Given the description of an element on the screen output the (x, y) to click on. 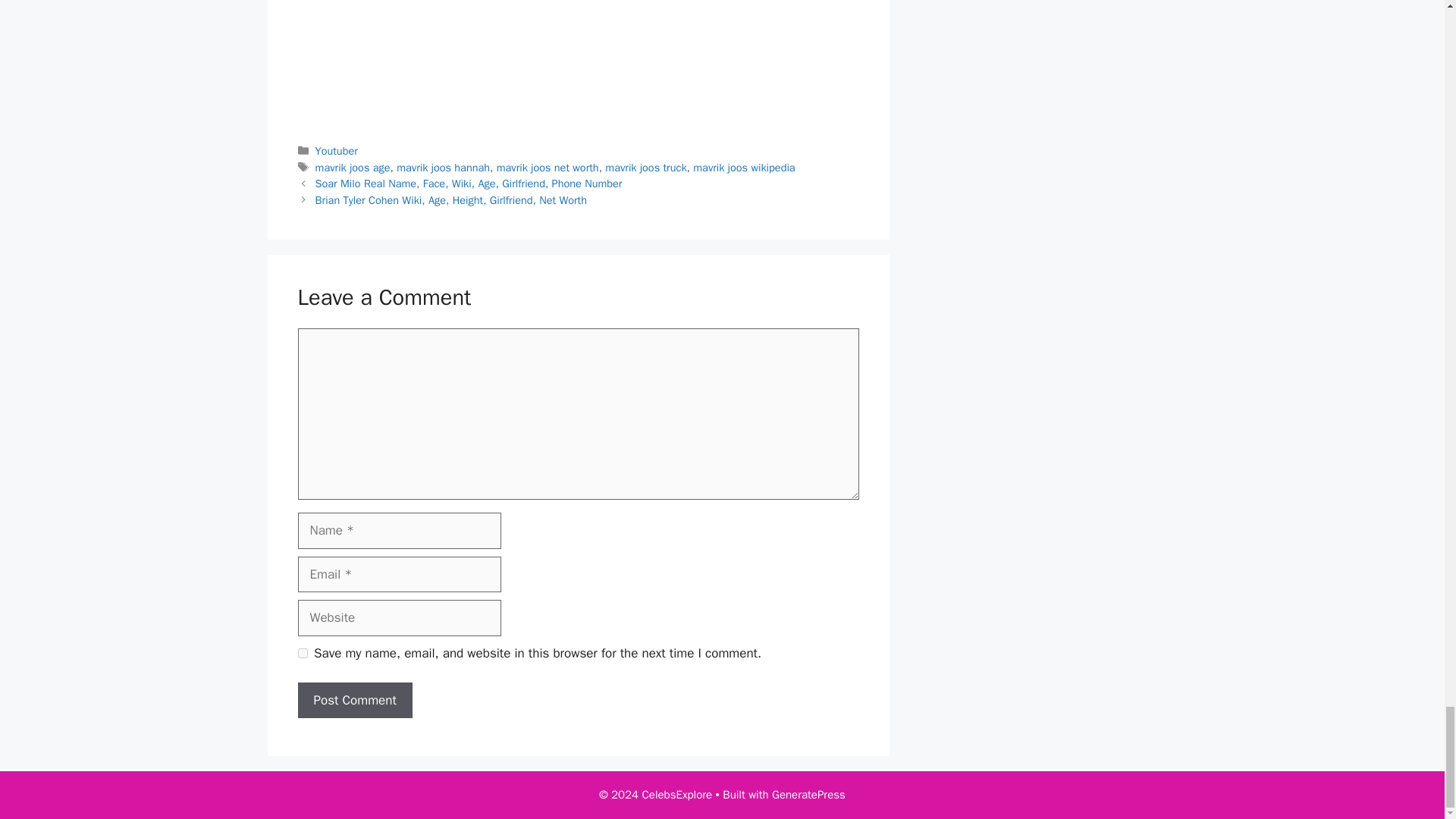
mavrik joos truck (645, 167)
Brian Tyler Cohen Wiki, Age, Height, Girlfriend, Net Worth (450, 200)
mavrik joos hannah (442, 167)
Youtuber (336, 151)
mavrik joos wikipedia (743, 167)
Post Comment (354, 700)
yes (302, 653)
mavrik joos net worth (547, 167)
mavrik joos age (352, 167)
